Given the description of an element on the screen output the (x, y) to click on. 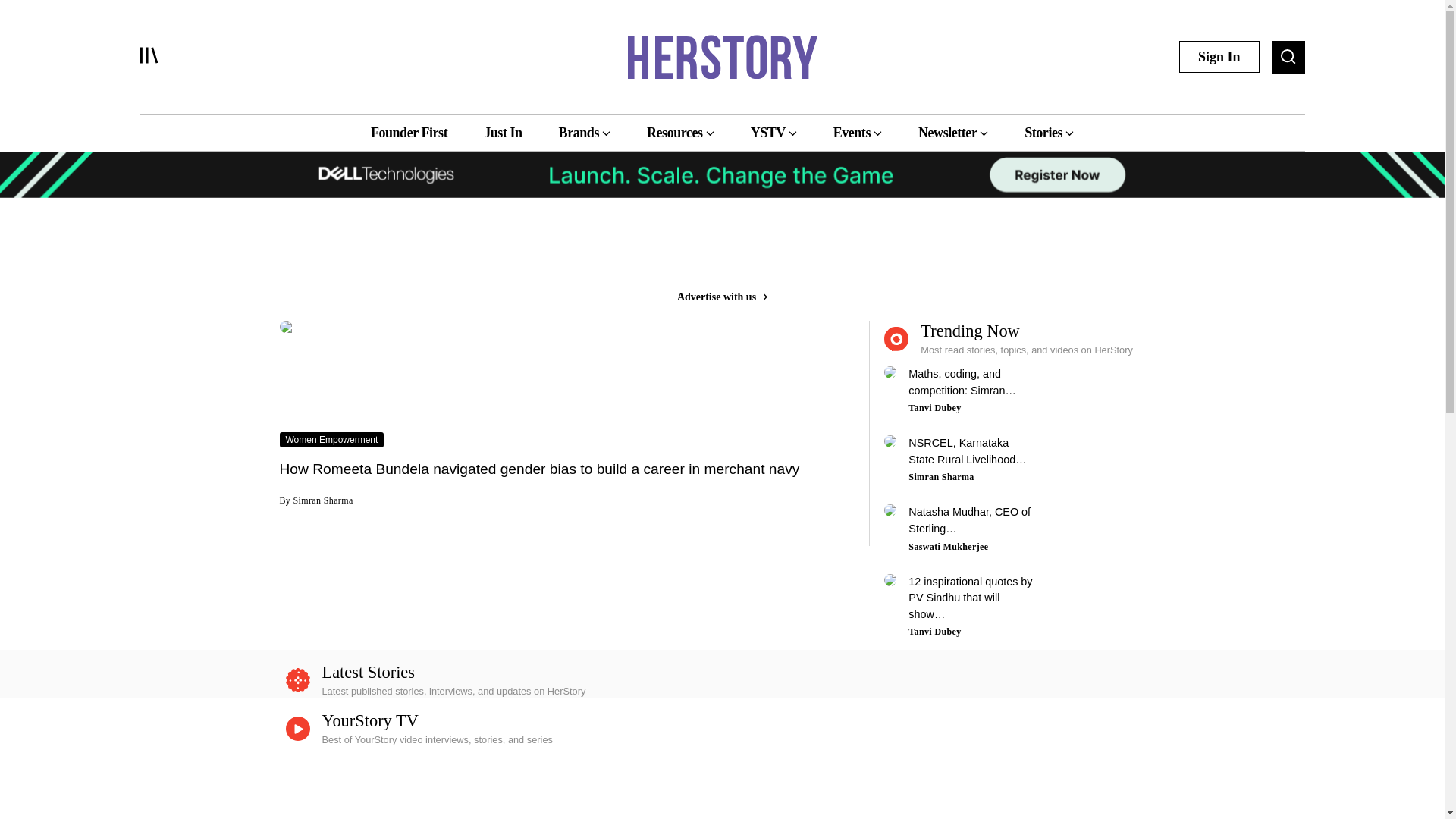
Tanvi Dubey (934, 631)
By Simran Sharma (315, 499)
Tanvi Dubey (934, 407)
Saswati Mukherjee (948, 546)
YourStory TV (369, 720)
Latest Stories (721, 679)
Trending Now (1016, 339)
Founder First (408, 132)
3rd party ad content (722, 785)
Simran Sharma (941, 476)
Just In (502, 132)
Women Empowerment (331, 438)
3rd party ad content (721, 251)
YourStory TV (721, 728)
